Given the description of an element on the screen output the (x, y) to click on. 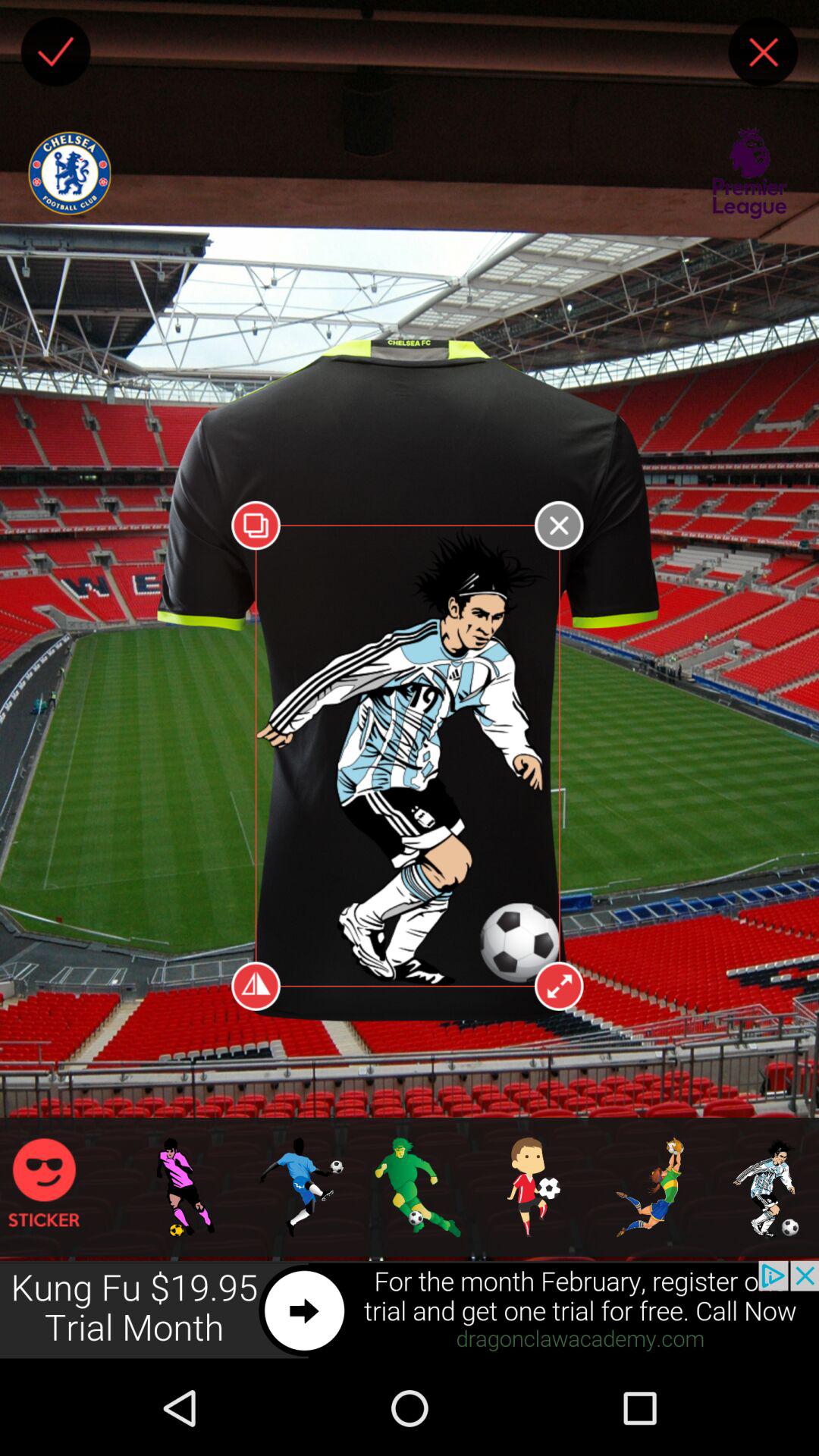
close page (763, 51)
